Given the description of an element on the screen output the (x, y) to click on. 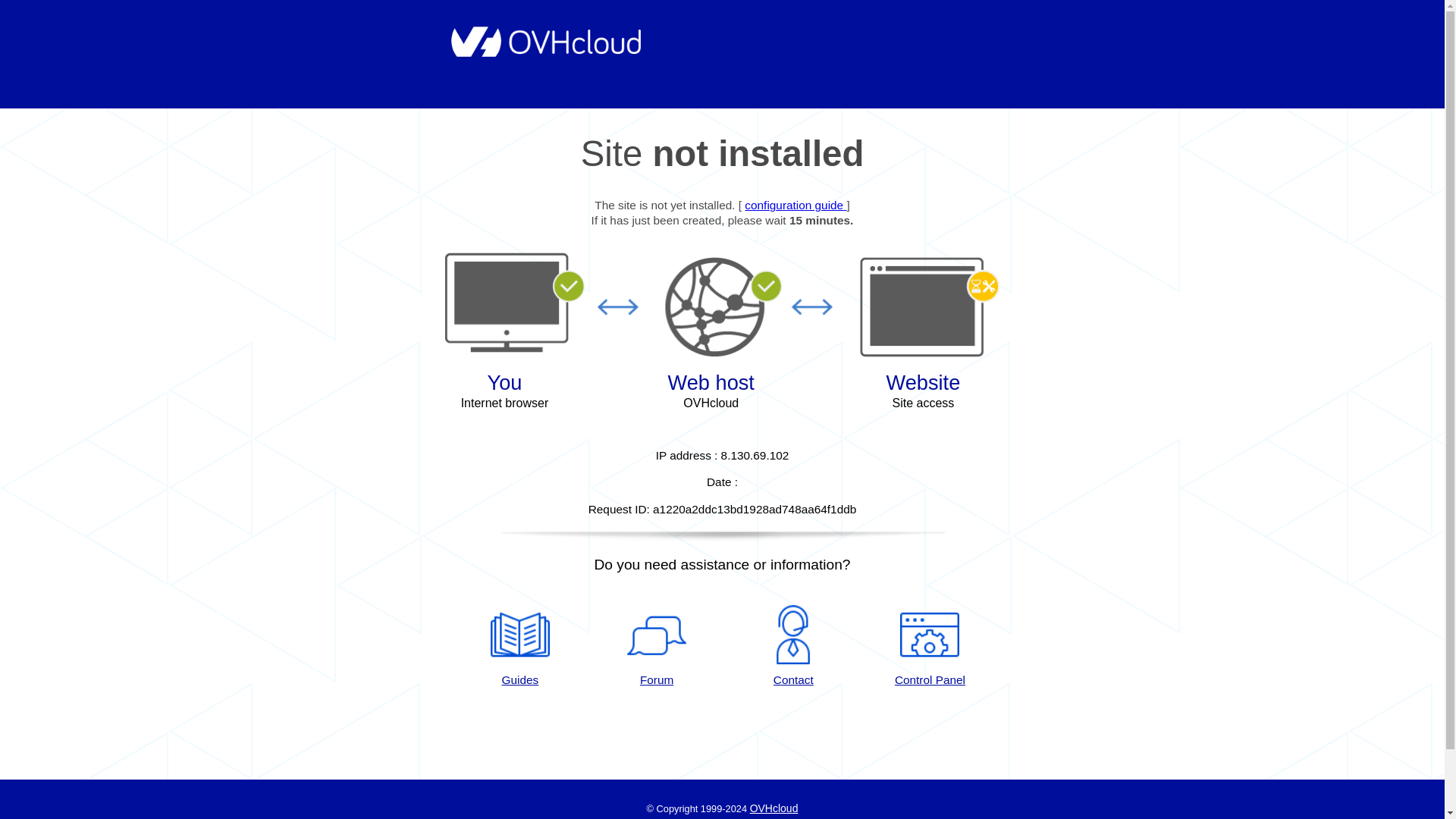
Forum (656, 646)
configuration guide (794, 205)
Control Panel (930, 646)
Contact (793, 646)
Control Panel (930, 646)
Guides (519, 646)
Guides (794, 205)
OVHcloud (773, 808)
Forum (656, 646)
Contact (793, 646)
